Given the description of an element on the screen output the (x, y) to click on. 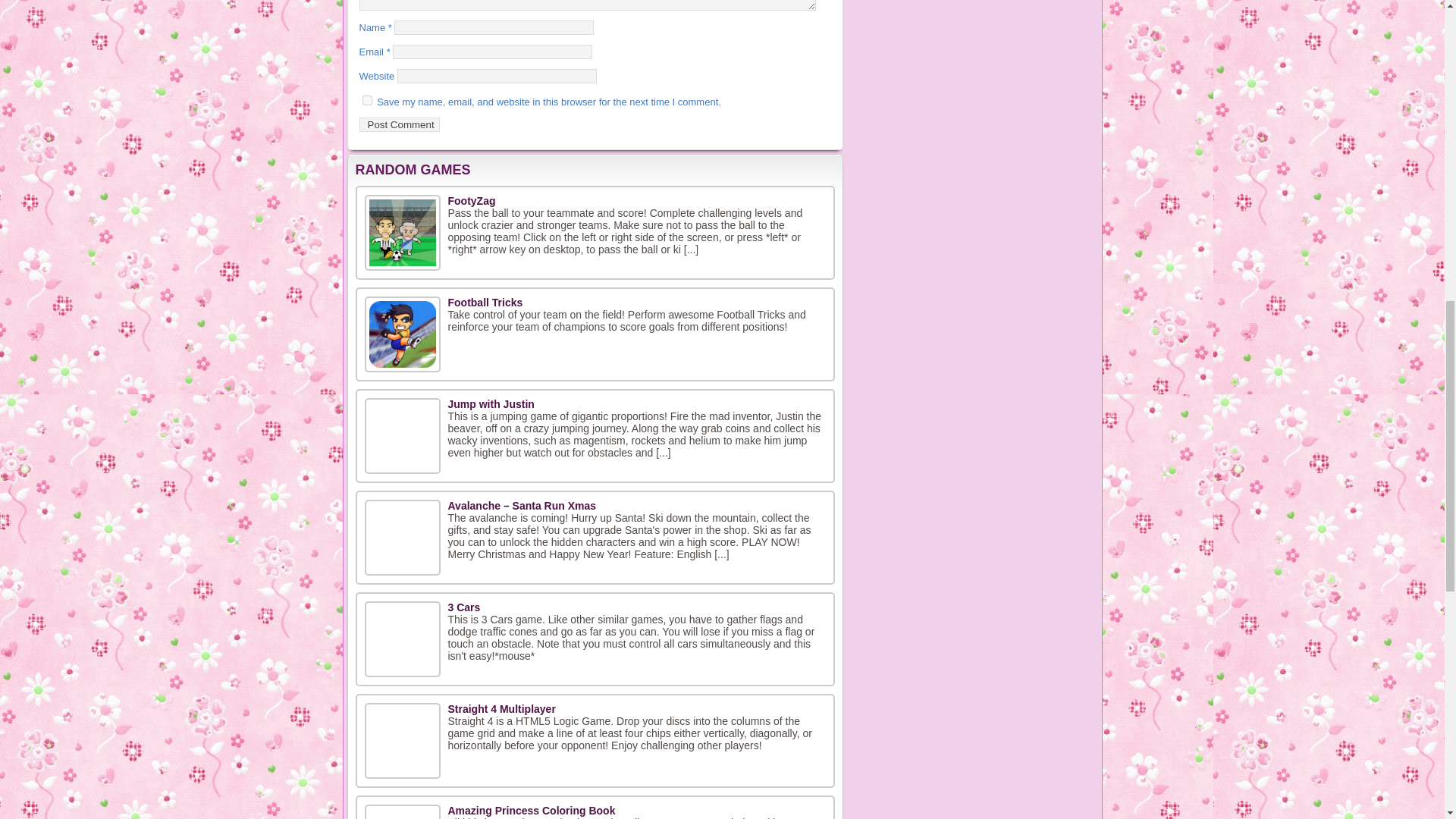
FootyZag (401, 232)
Jump with Justin (490, 404)
FootyZag (470, 200)
Post Comment (399, 124)
Post Comment (399, 124)
Football Tricks (484, 302)
Amazing Princess Coloring Book (530, 810)
Straight 4 Multiplayer (500, 708)
yes (367, 100)
3 Cars (463, 607)
